Given the description of an element on the screen output the (x, y) to click on. 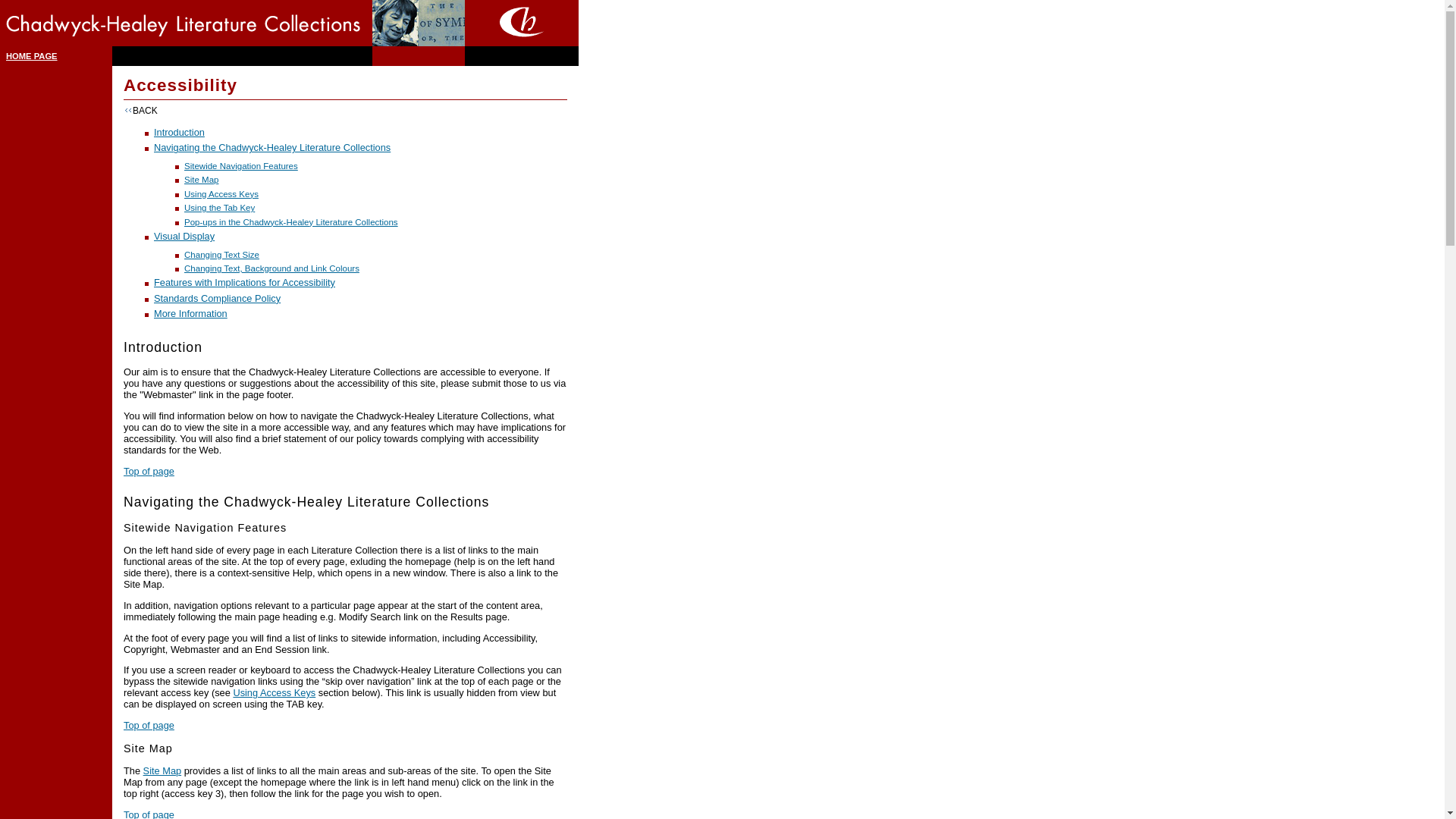
Introduction (179, 132)
More Information (190, 313)
Changing Text Size (221, 254)
Visual Display (184, 235)
Sitewide Navigation Features (241, 165)
Changing Text, Background and Link Colours (271, 267)
Site Map (201, 179)
Features with Implications for Accessibility (244, 282)
Top of page (148, 471)
Using Access Keys (273, 692)
Top of page (148, 725)
Using Access Keys (221, 194)
Site Map (162, 770)
Top of page (148, 814)
